Given the description of an element on the screen output the (x, y) to click on. 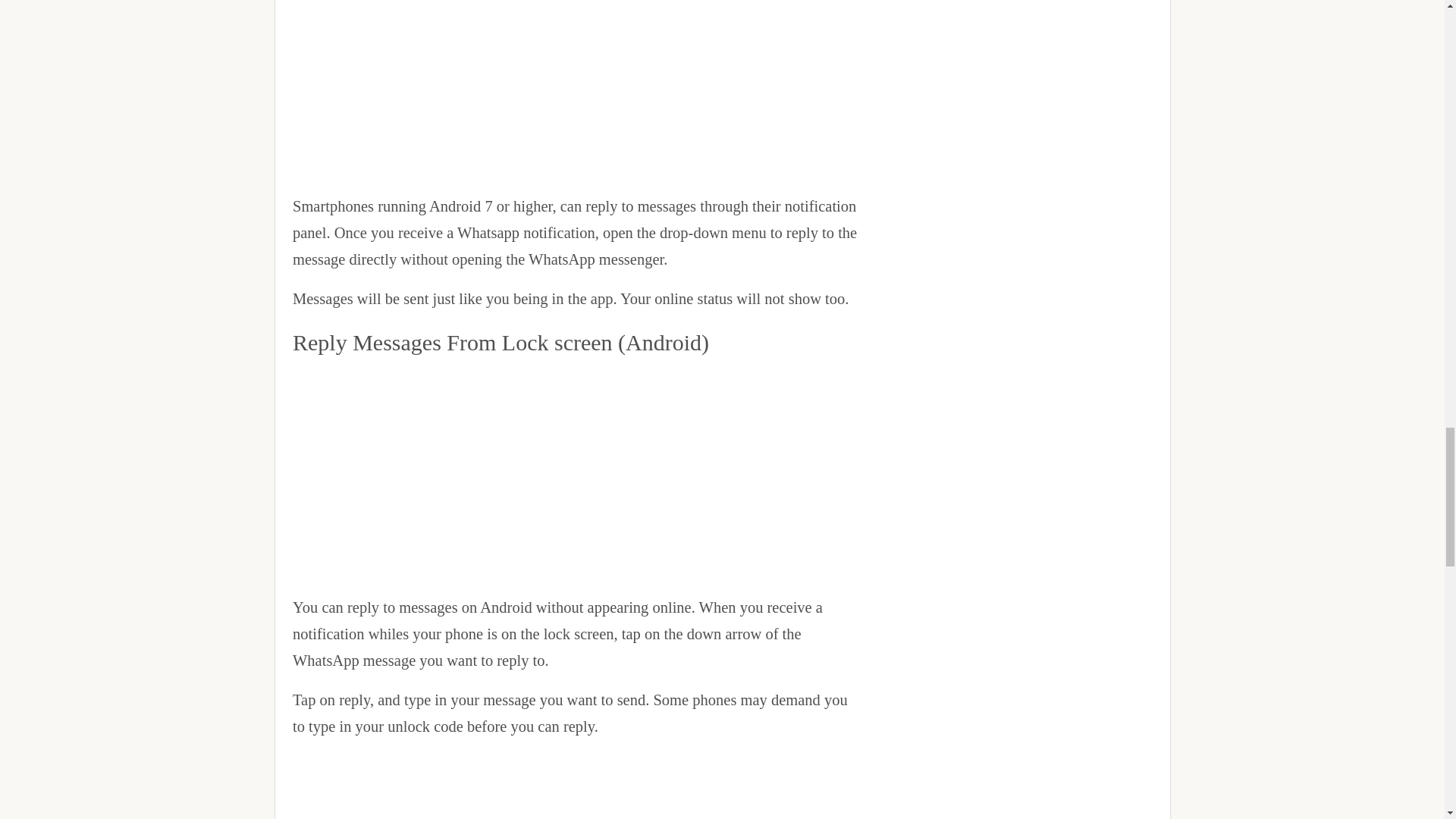
Advertisement (575, 470)
Advertisement (575, 92)
